Given the description of an element on the screen output the (x, y) to click on. 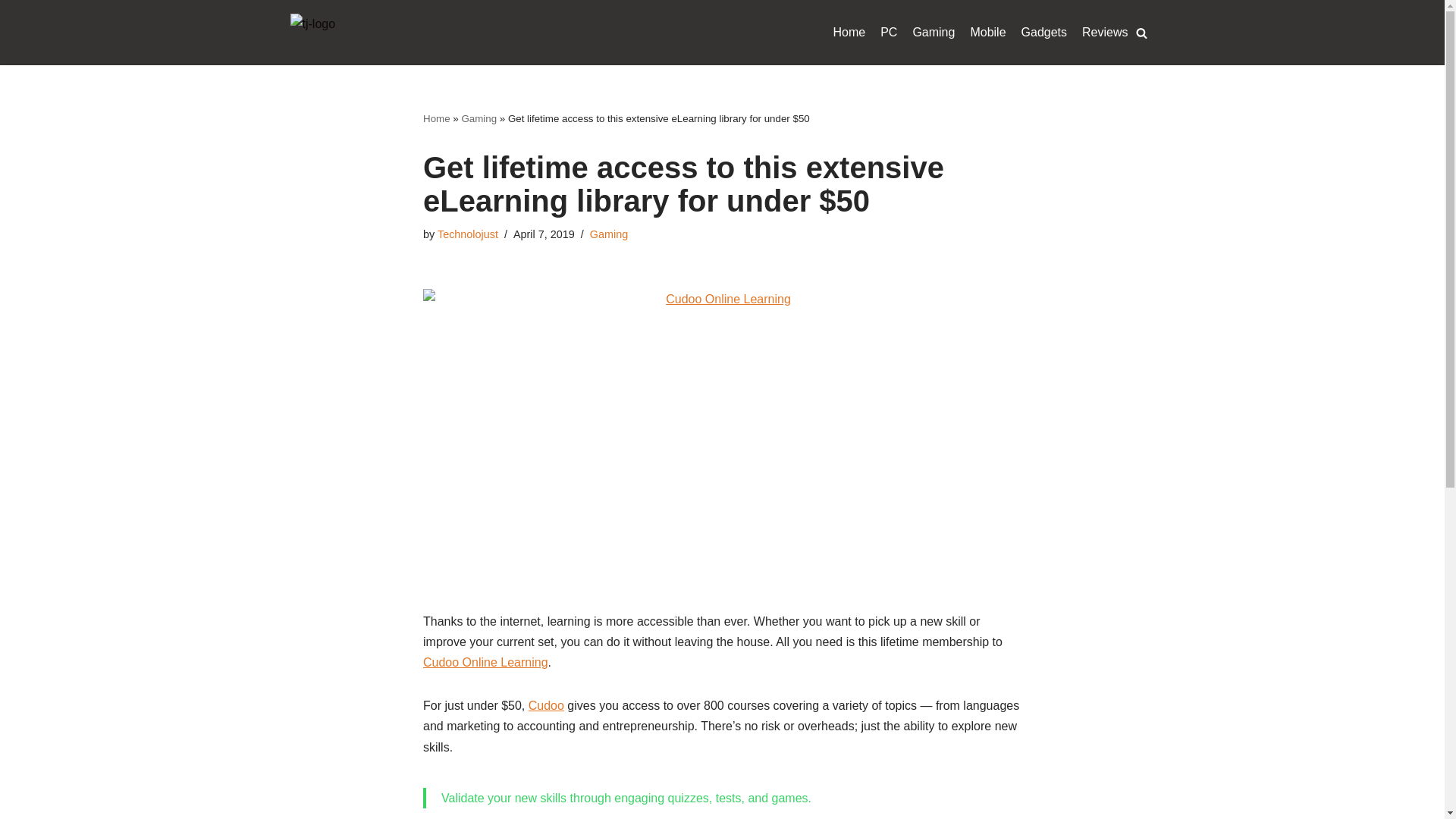
Home (436, 118)
Skip to content (11, 31)
Gadgets (1044, 32)
Gaming (933, 32)
Posts by Technolojust (467, 234)
Mobile (987, 32)
Gaming (608, 234)
Gaming (478, 118)
Cudoo (546, 705)
Reviews (1103, 32)
